Given the description of an element on the screen output the (x, y) to click on. 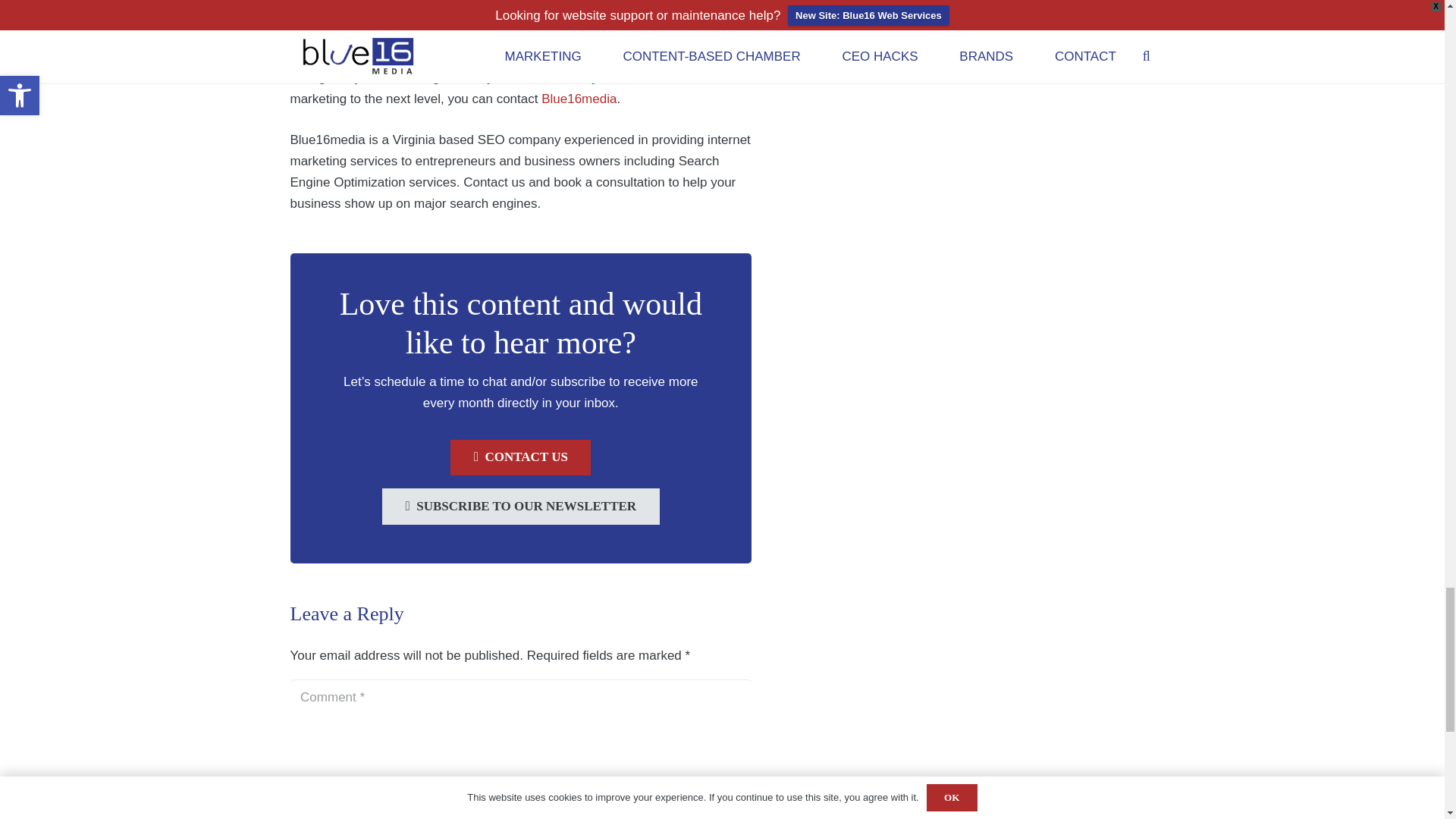
CONTACT US (520, 457)
Blue16media (578, 98)
SUBSCRIBE TO OUR NEWSLETTER (520, 506)
